Given the description of an element on the screen output the (x, y) to click on. 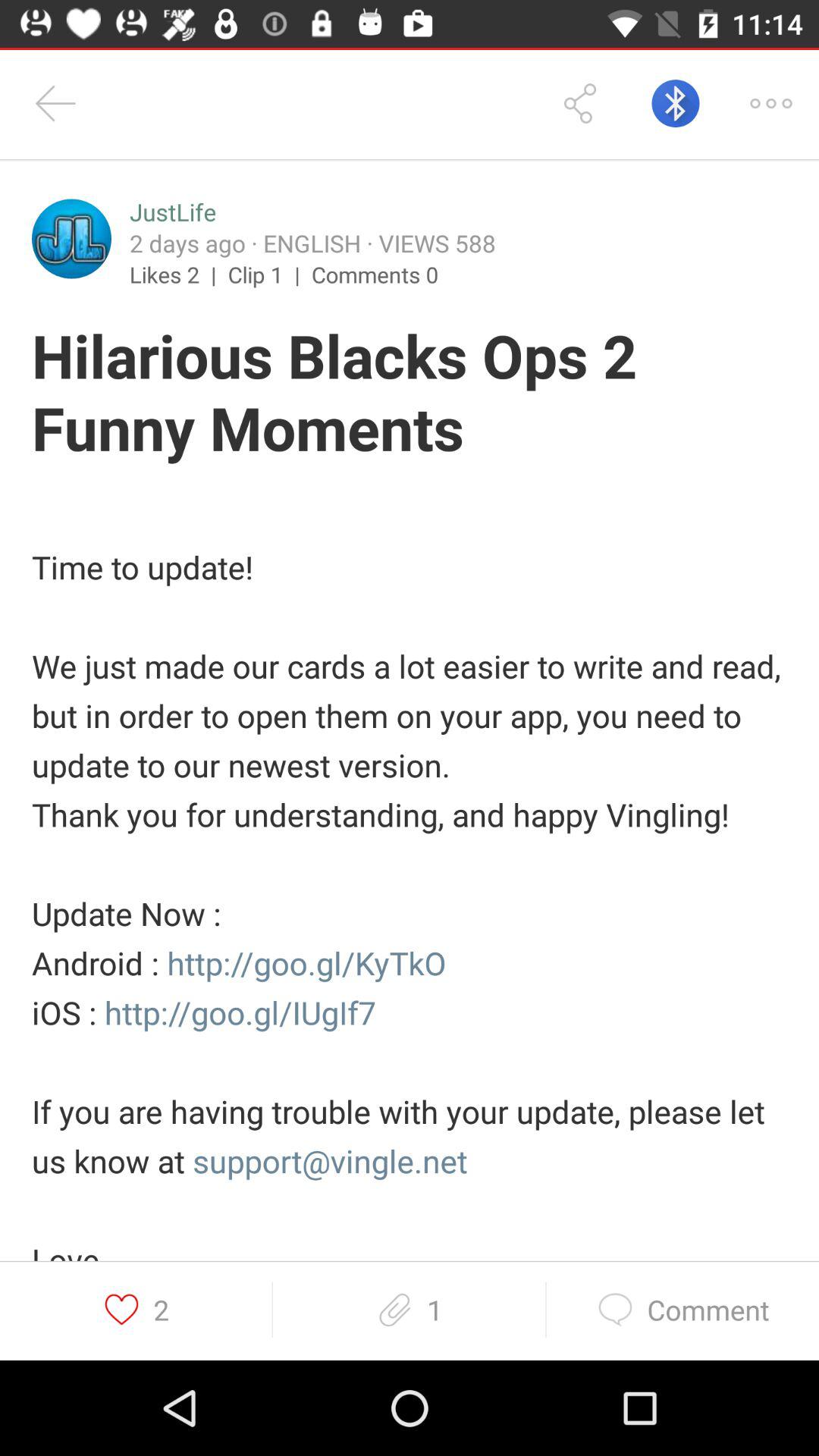
press comments 0 (374, 274)
